Given the description of an element on the screen output the (x, y) to click on. 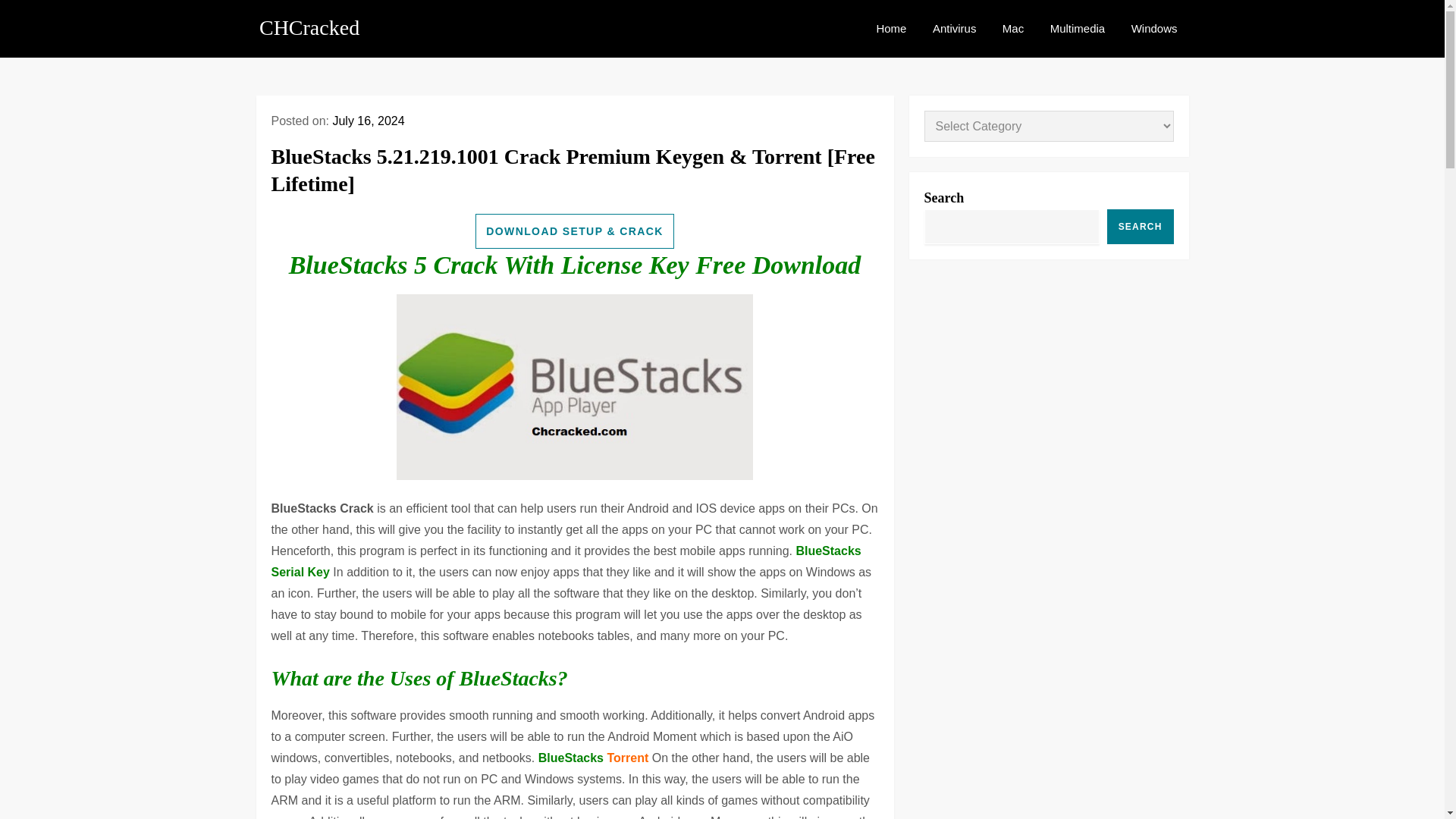
Antivirus (954, 28)
SEARCH (1139, 226)
CHCracked (309, 27)
Windows (1154, 28)
July 16, 2024 (367, 120)
Multimedia (1077, 28)
Mac (1013, 28)
Home (890, 28)
